Given the description of an element on the screen output the (x, y) to click on. 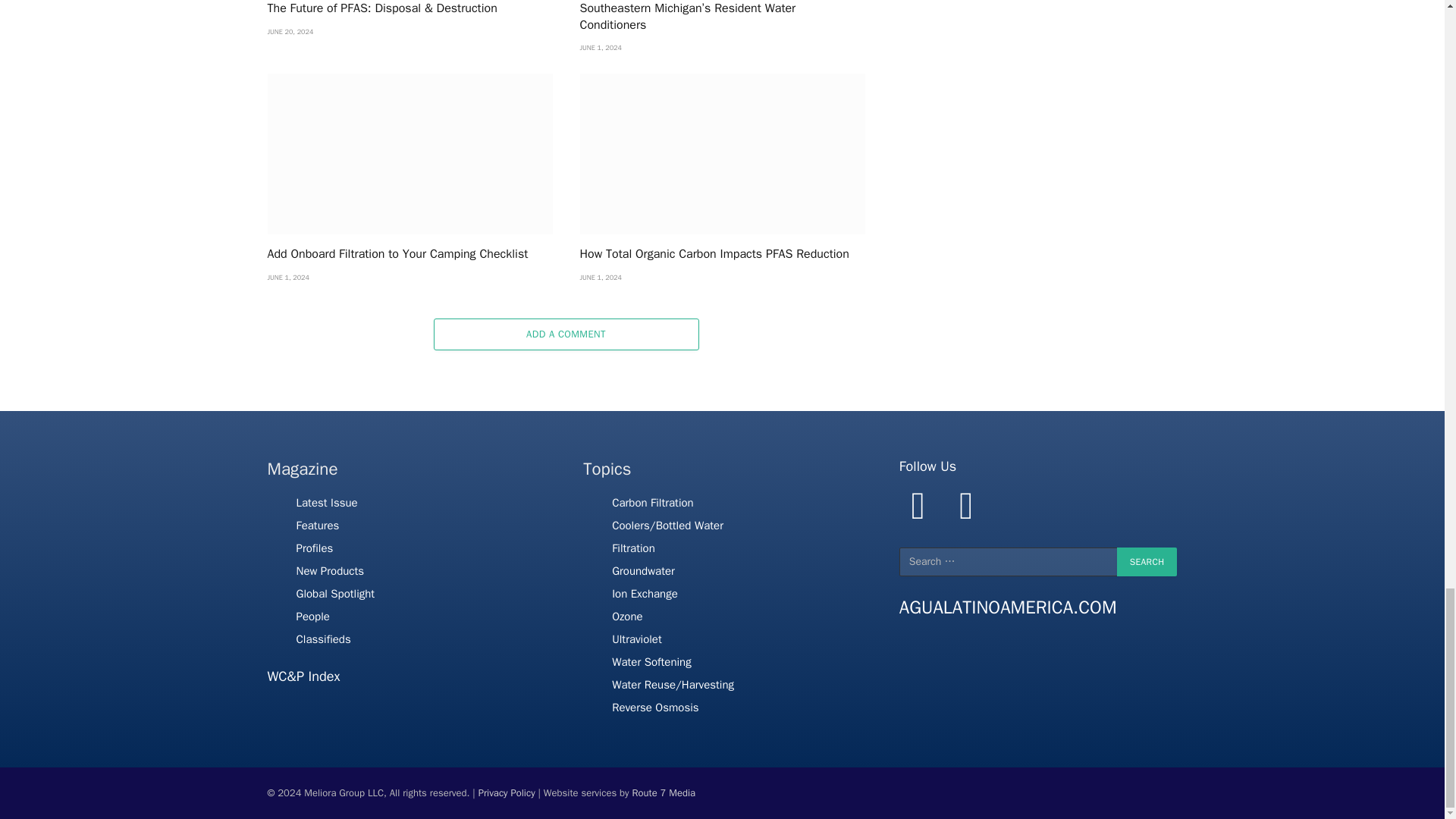
Search (1146, 561)
Search (1146, 561)
